Given the description of an element on the screen output the (x, y) to click on. 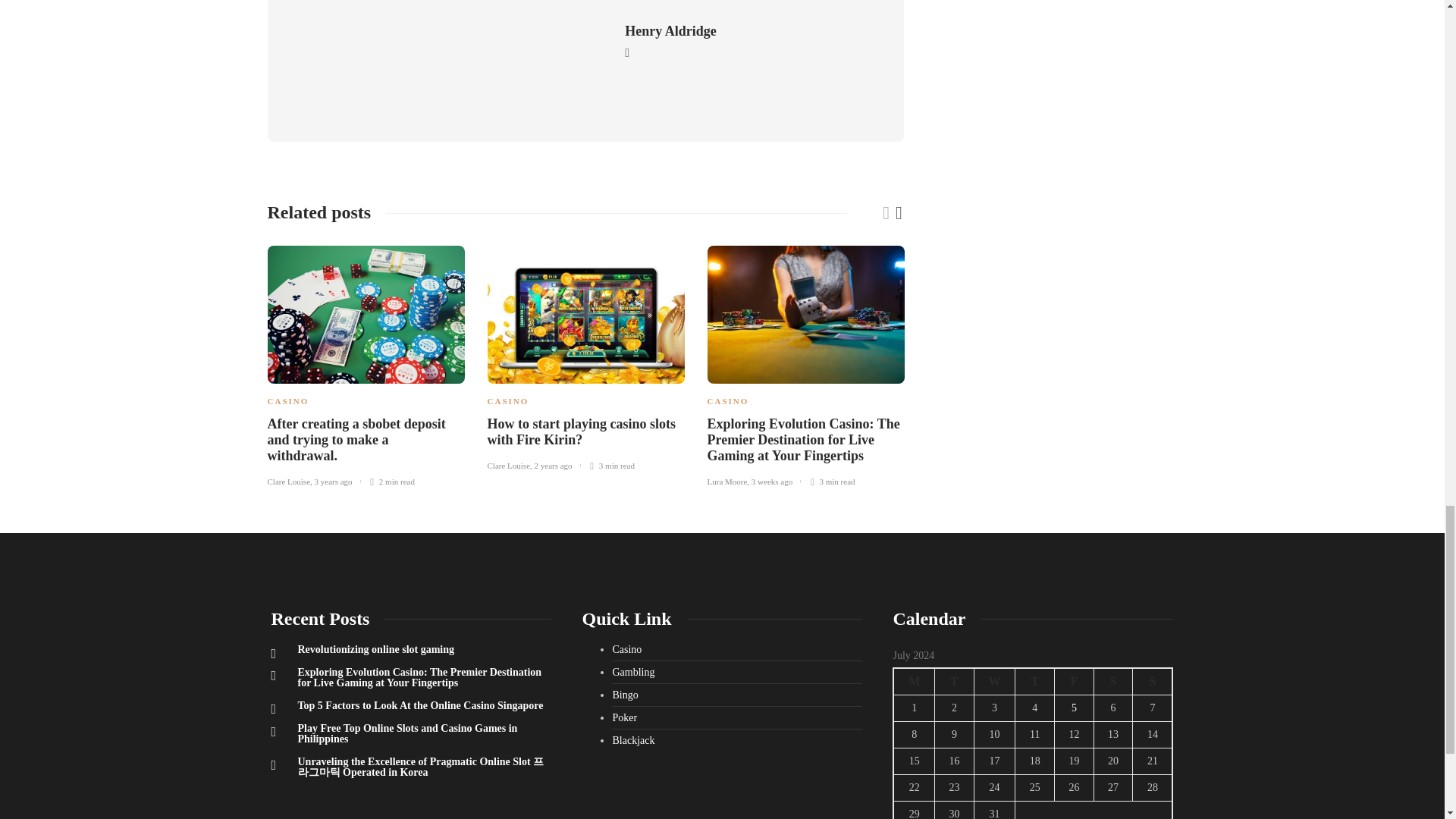
Thursday (1034, 681)
Wednesday (994, 681)
Friday (1074, 681)
Sunday (1152, 681)
Saturday (1112, 681)
Monday (913, 681)
Tuesday (954, 681)
